Given the description of an element on the screen output the (x, y) to click on. 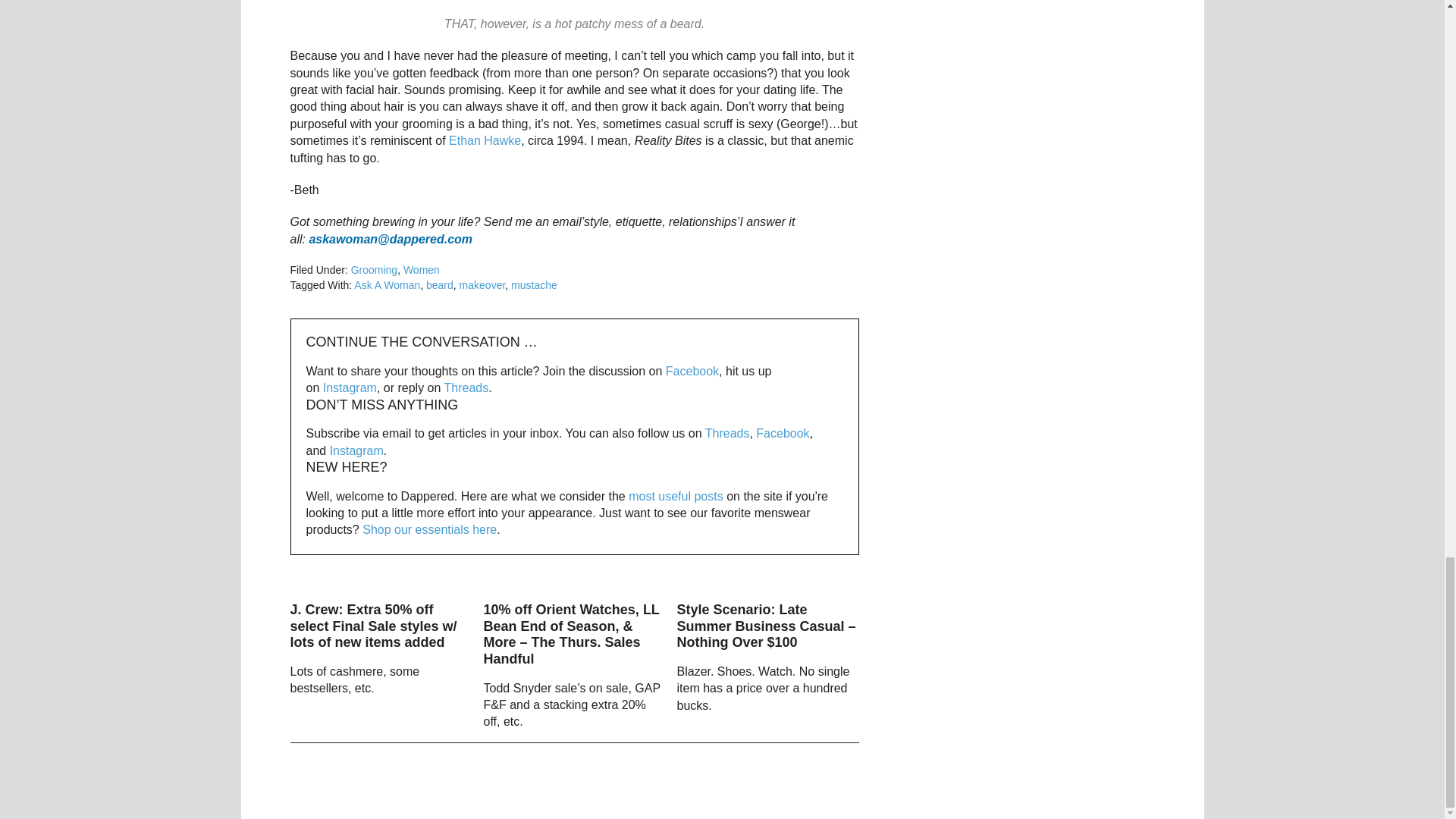
Ethan Hawke (484, 140)
makeover (482, 285)
Instagram (357, 450)
Grooming (373, 269)
Threads (726, 432)
Facebook (782, 432)
Ask A Woman (386, 285)
Women (421, 269)
Instagram (350, 387)
most useful posts (675, 495)
